Given the description of an element on the screen output the (x, y) to click on. 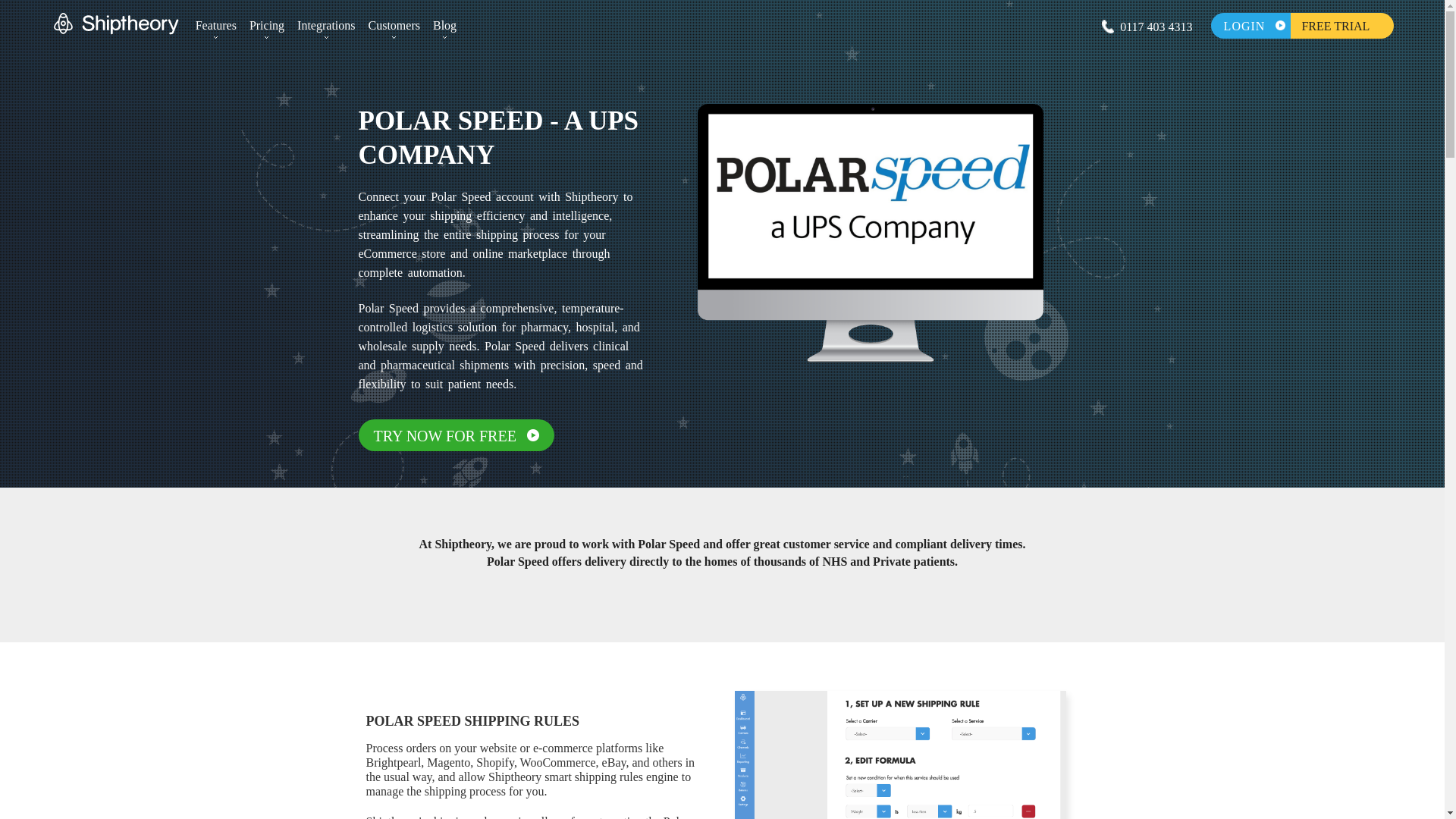
LOGIN (1251, 25)
TRY NOW FOR FREE (455, 435)
Pricing (265, 28)
Blog (444, 28)
Integrations (326, 28)
FREE TRIAL (1341, 25)
Features (215, 28)
0117 403 4313 (1155, 26)
Shiptheory (116, 24)
Customers (394, 28)
